Given the description of an element on the screen output the (x, y) to click on. 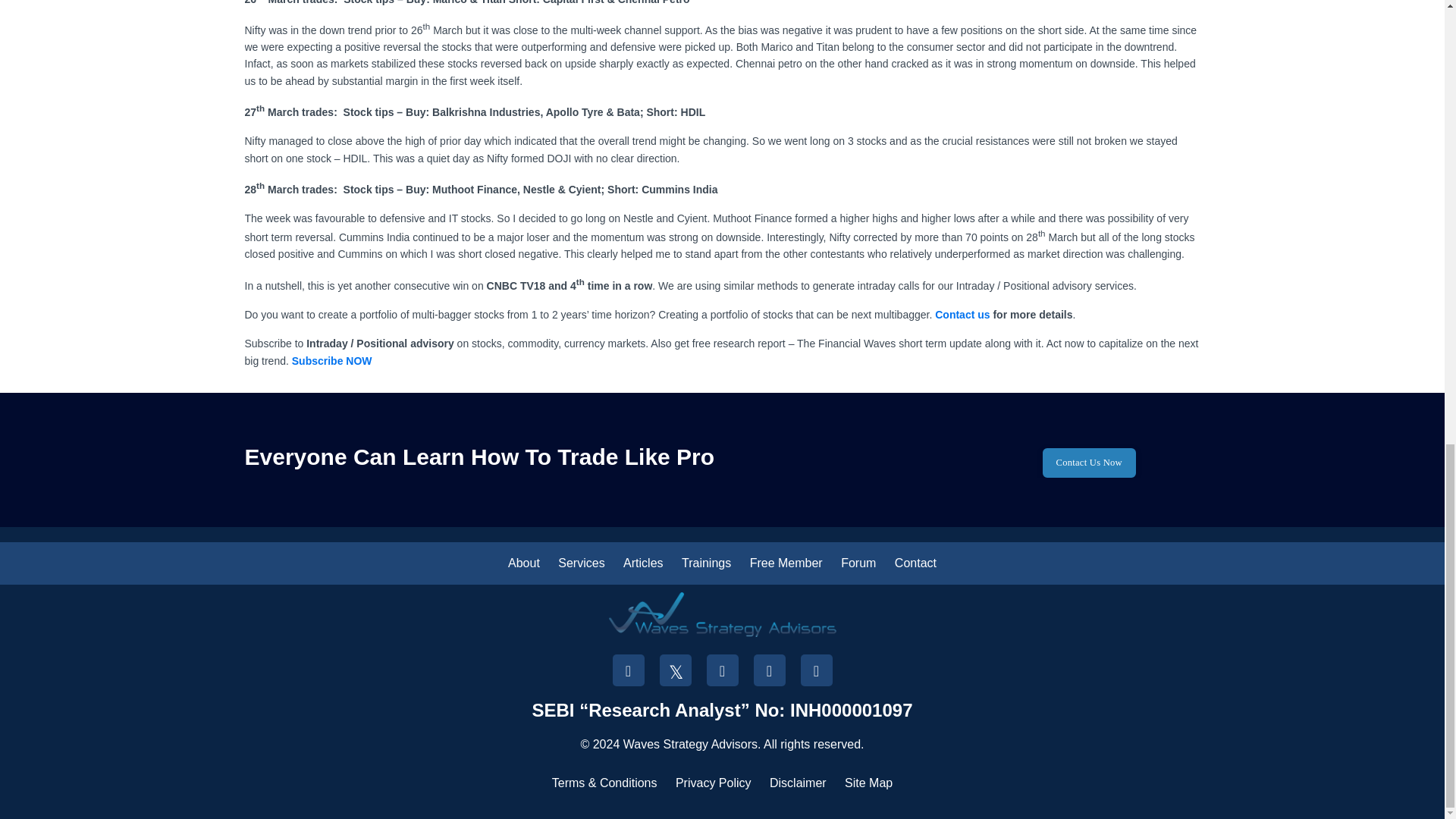
Free Member (785, 562)
Privacy Policy (713, 782)
Subscribe NOW (332, 360)
Disclaimer (798, 782)
Contact Us Now (1088, 462)
Contact (915, 562)
About (524, 562)
Articles (642, 562)
Contact us (962, 314)
Site Map (868, 782)
